Given the description of an element on the screen output the (x, y) to click on. 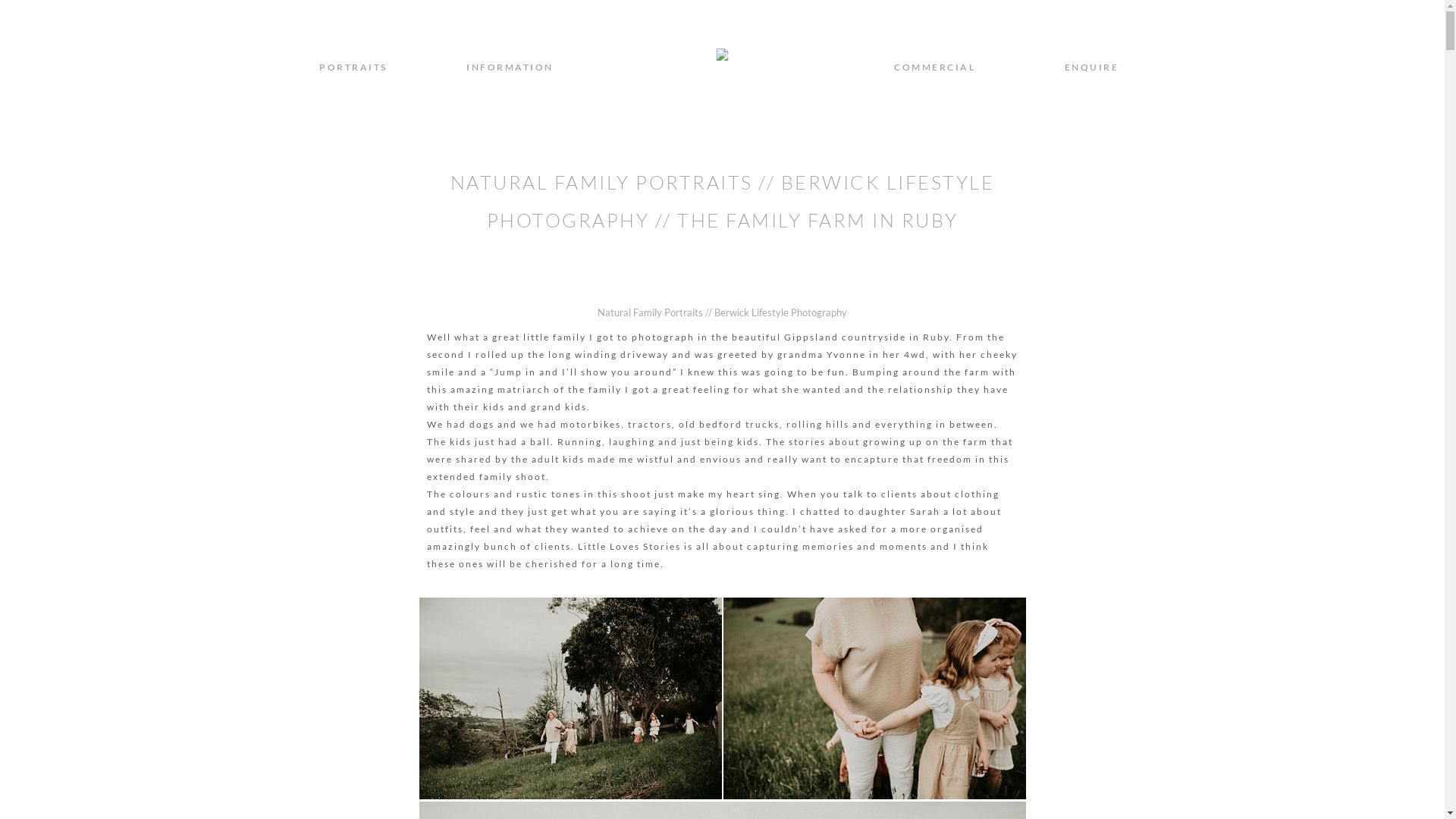
COMMERCIAL Element type: text (934, 66)
ENQUIRE Element type: text (1091, 66)
INFORMATION Element type: text (509, 66)
PORTRAITS Element type: text (353, 66)
